Given the description of an element on the screen output the (x, y) to click on. 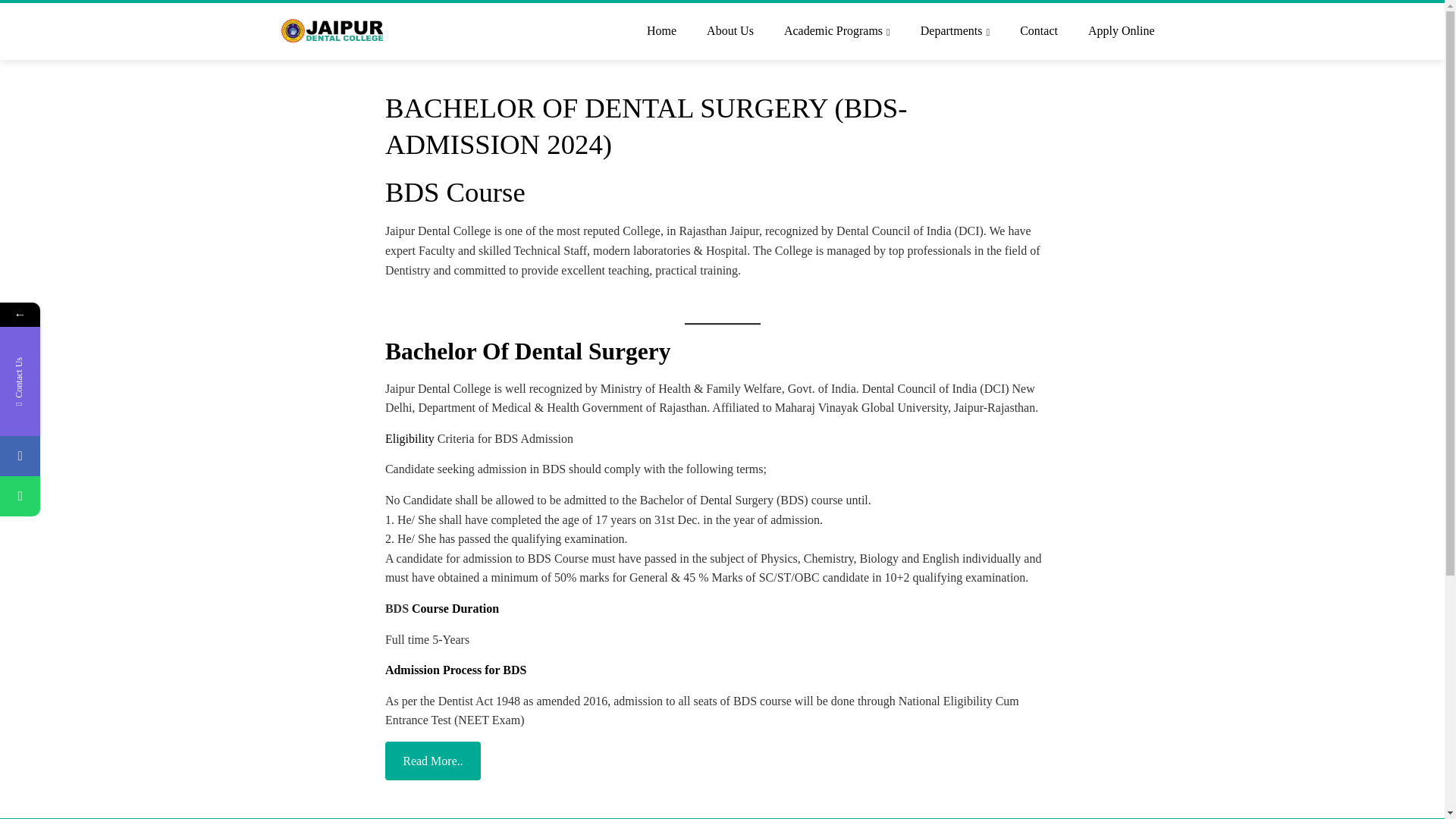
Admission Process for BDS (456, 669)
Course Duration (455, 608)
Facebook (92, 455)
WhatsApp (20, 495)
Contact (1038, 31)
Apply Online (1121, 31)
WhatsApp (92, 495)
Academic Programs (837, 31)
About Us (730, 31)
Read More.. (432, 761)
